Given the description of an element on the screen output the (x, y) to click on. 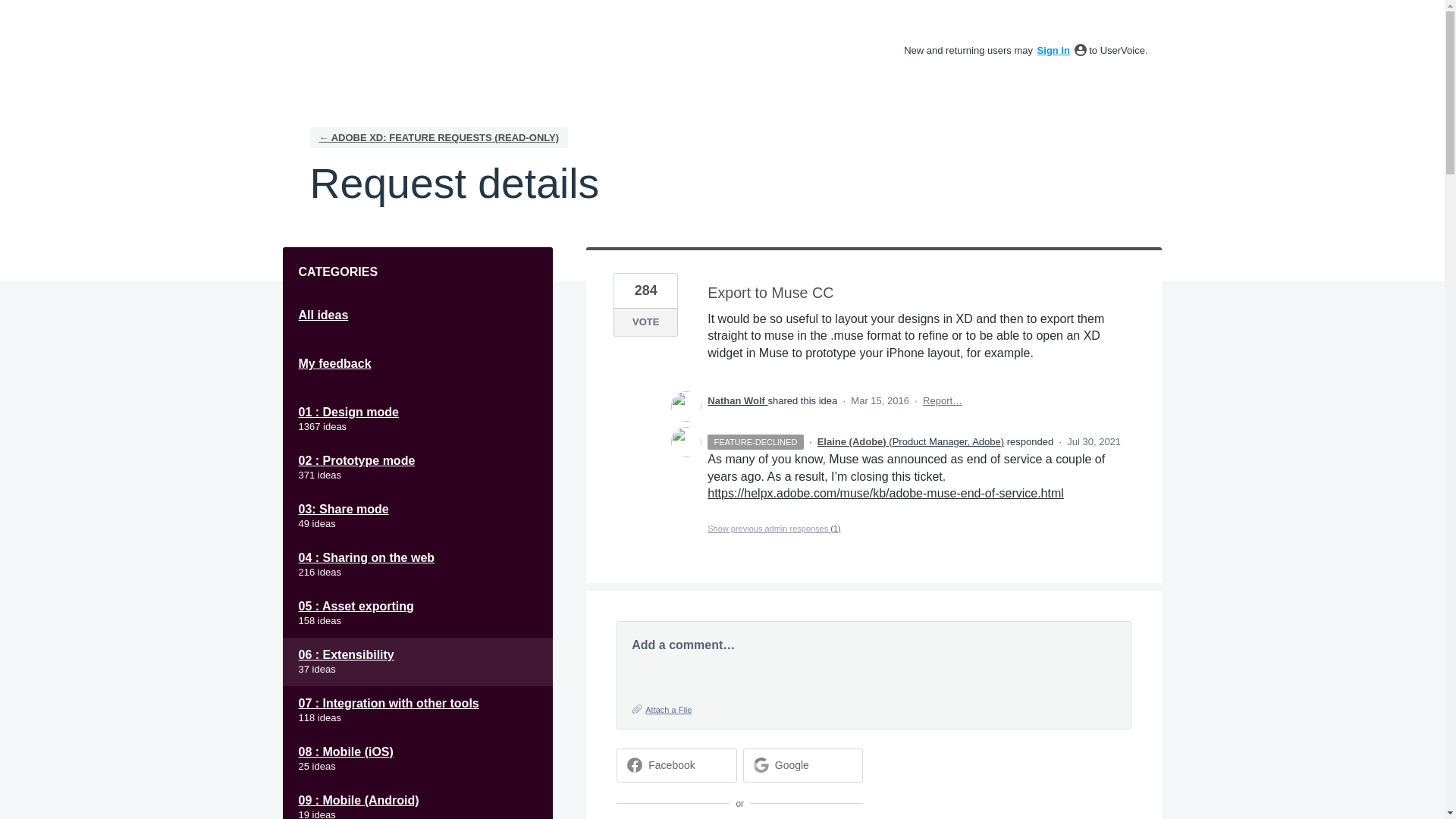
My feedback (417, 370)
07 : Integration with other tools (417, 710)
View all ideas in category 05 : Asset exporting (417, 613)
All ideas (417, 322)
View all ideas in category 07 : Integration with other tools (417, 710)
View all ideas in category 03: Share mode (417, 516)
View all ideas in category 04 : Sharing on the web (417, 564)
View all ideas in category 02 : Prototype mode (417, 467)
View all ideas in category 01 : Design mode (417, 418)
01 : Design mode (417, 418)
04 : Sharing on the web (417, 564)
Sign In (1053, 50)
05 : Asset exporting (417, 613)
Skip to content (12, 12)
02 : Prototype mode (417, 467)
